Given the description of an element on the screen output the (x, y) to click on. 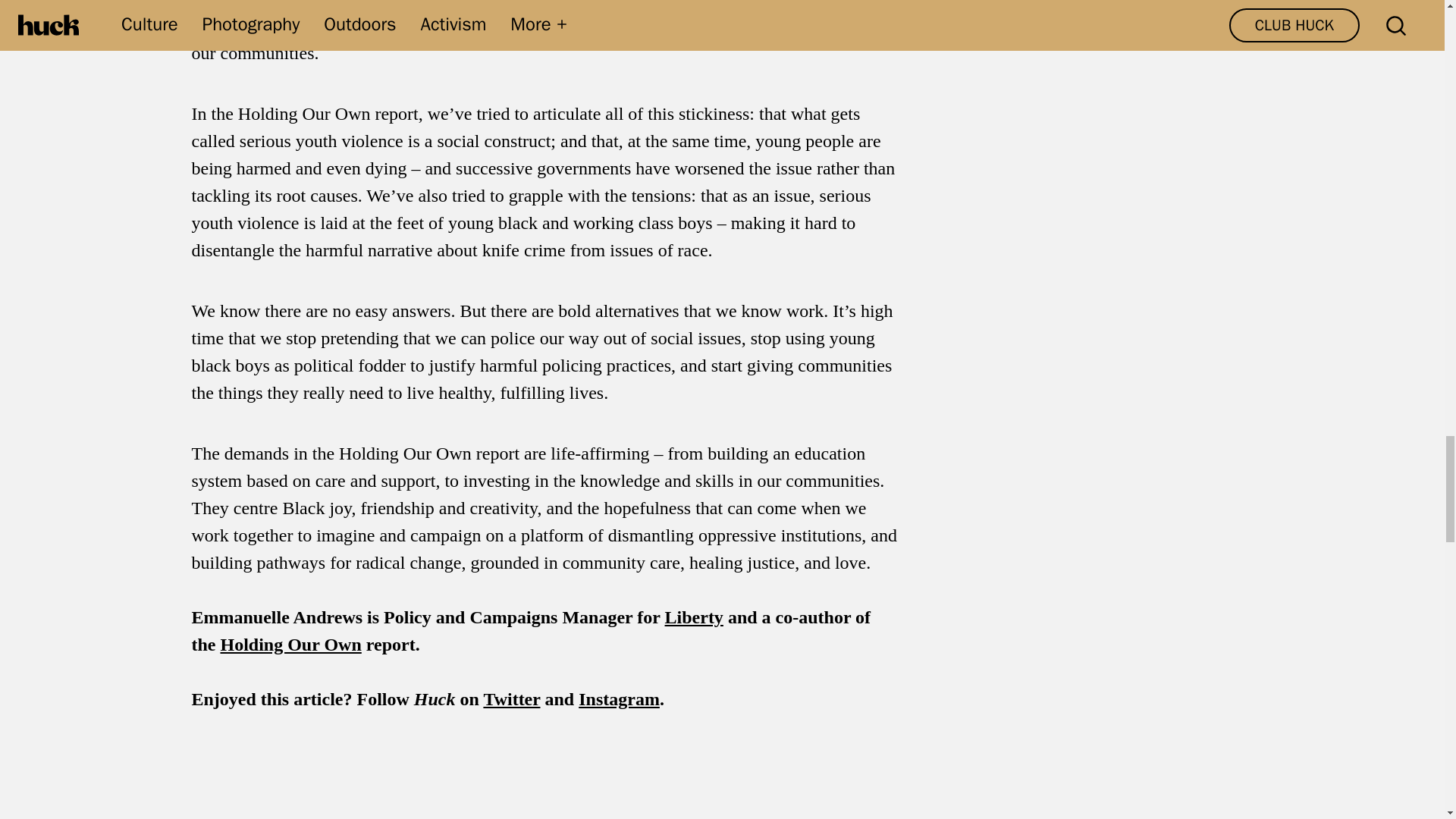
policing of predominantly black communities (527, 4)
Liberty (694, 617)
Twitter (511, 699)
dangerous weapons like TASER (537, 18)
Holding Our Own (290, 644)
Instagram (618, 699)
